Given the description of an element on the screen output the (x, y) to click on. 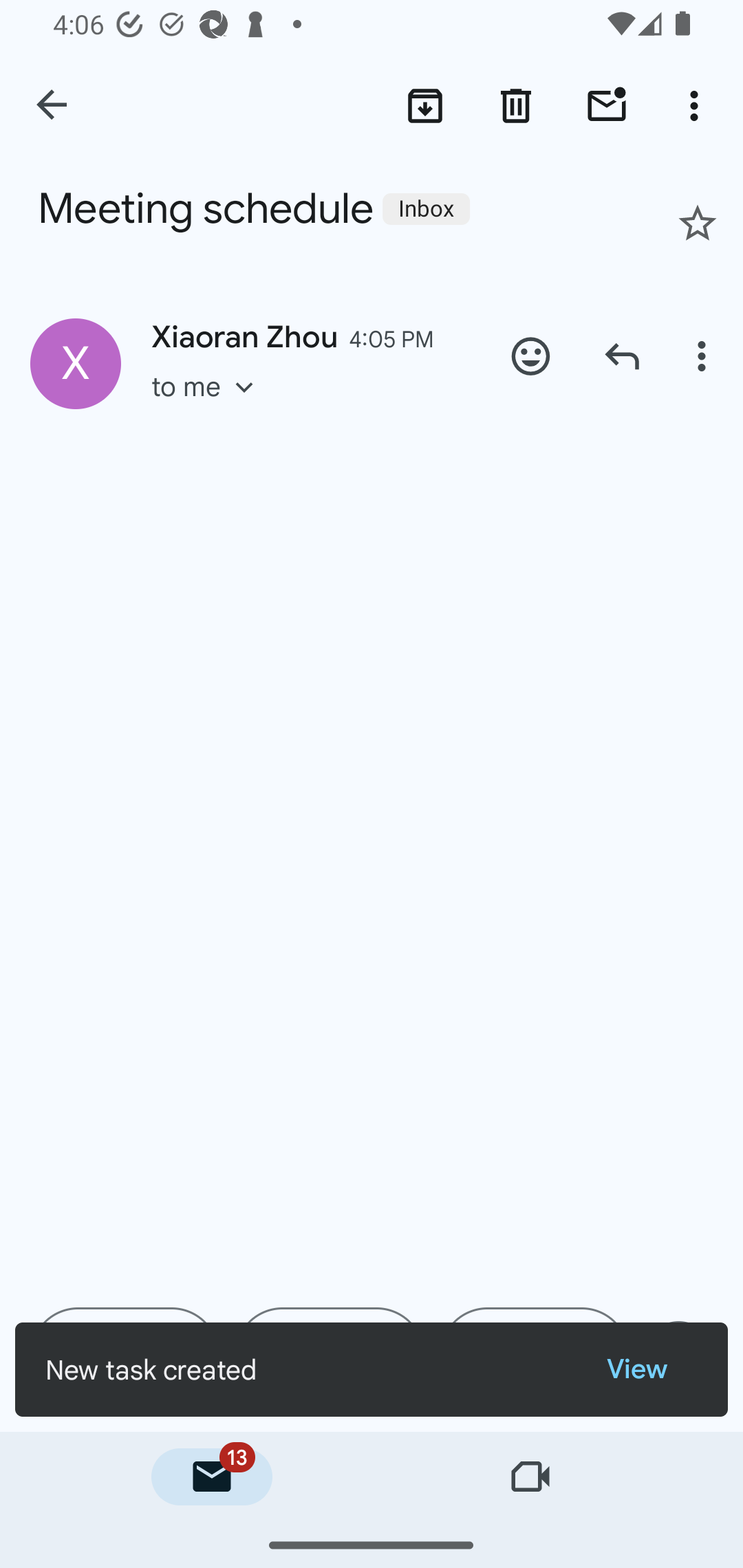
Navigate up (53, 105)
Archive (424, 105)
Delete (515, 105)
Mark unread (606, 105)
More options (697, 105)
Add star (697, 223)
Add emoji reaction (530, 355)
Reply (621, 355)
More options (705, 355)
Show contact information for Xiaoran Zhou (75, 363)
to me (208, 405)
Meet (530, 1476)
